Given the description of an element on the screen output the (x, y) to click on. 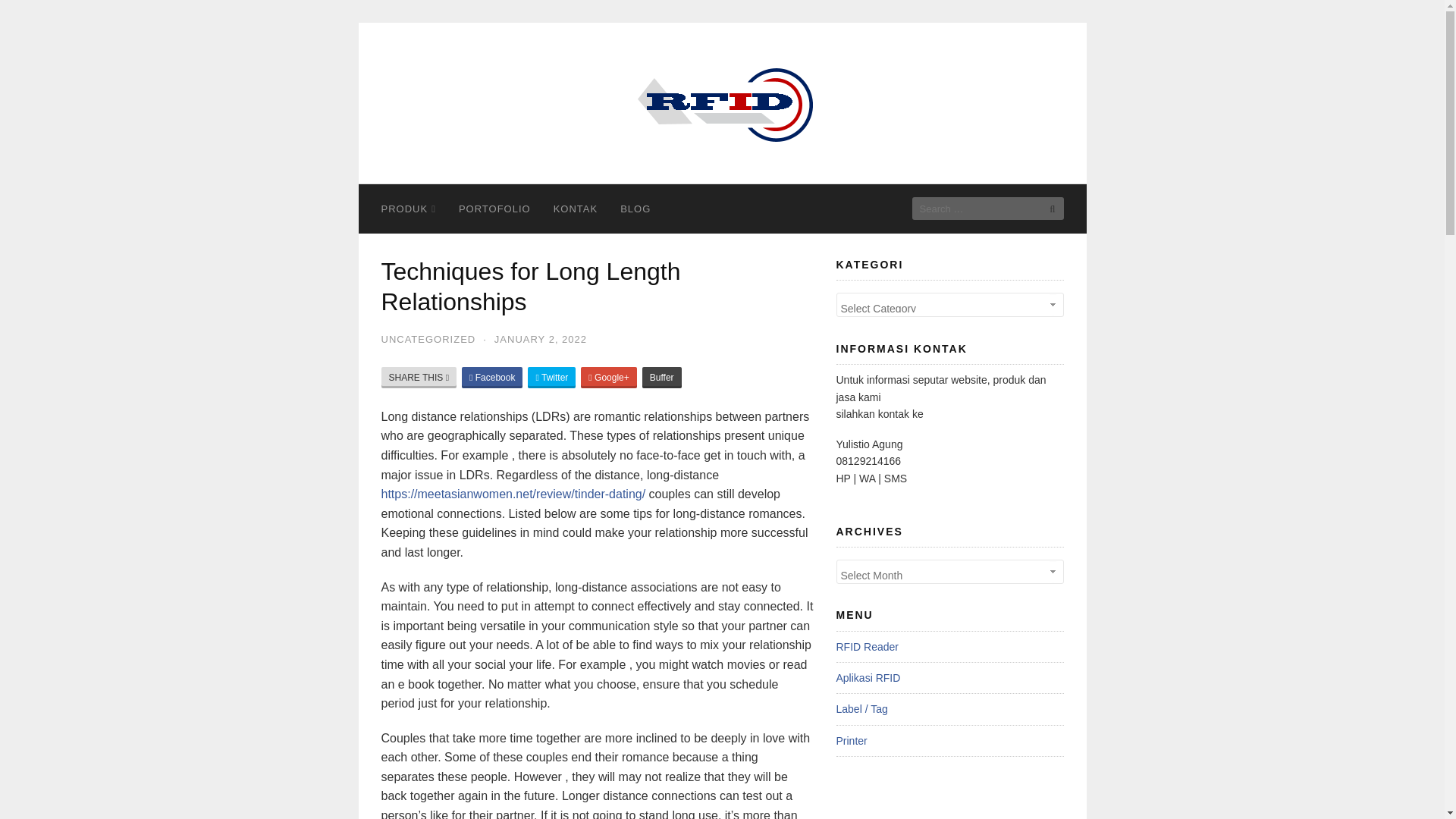
Buffer (661, 377)
KONTAK (575, 208)
Aplikasi RFID (867, 677)
Printer (850, 740)
Search (1047, 208)
RFID Reader (866, 646)
Facebook (491, 377)
Search (1047, 208)
Twitter (551, 377)
UNCATEGORIZED (428, 338)
BLOG (635, 208)
PORTOFOLIO (493, 208)
Search (1047, 208)
PRODUK (407, 208)
